Given the description of an element on the screen output the (x, y) to click on. 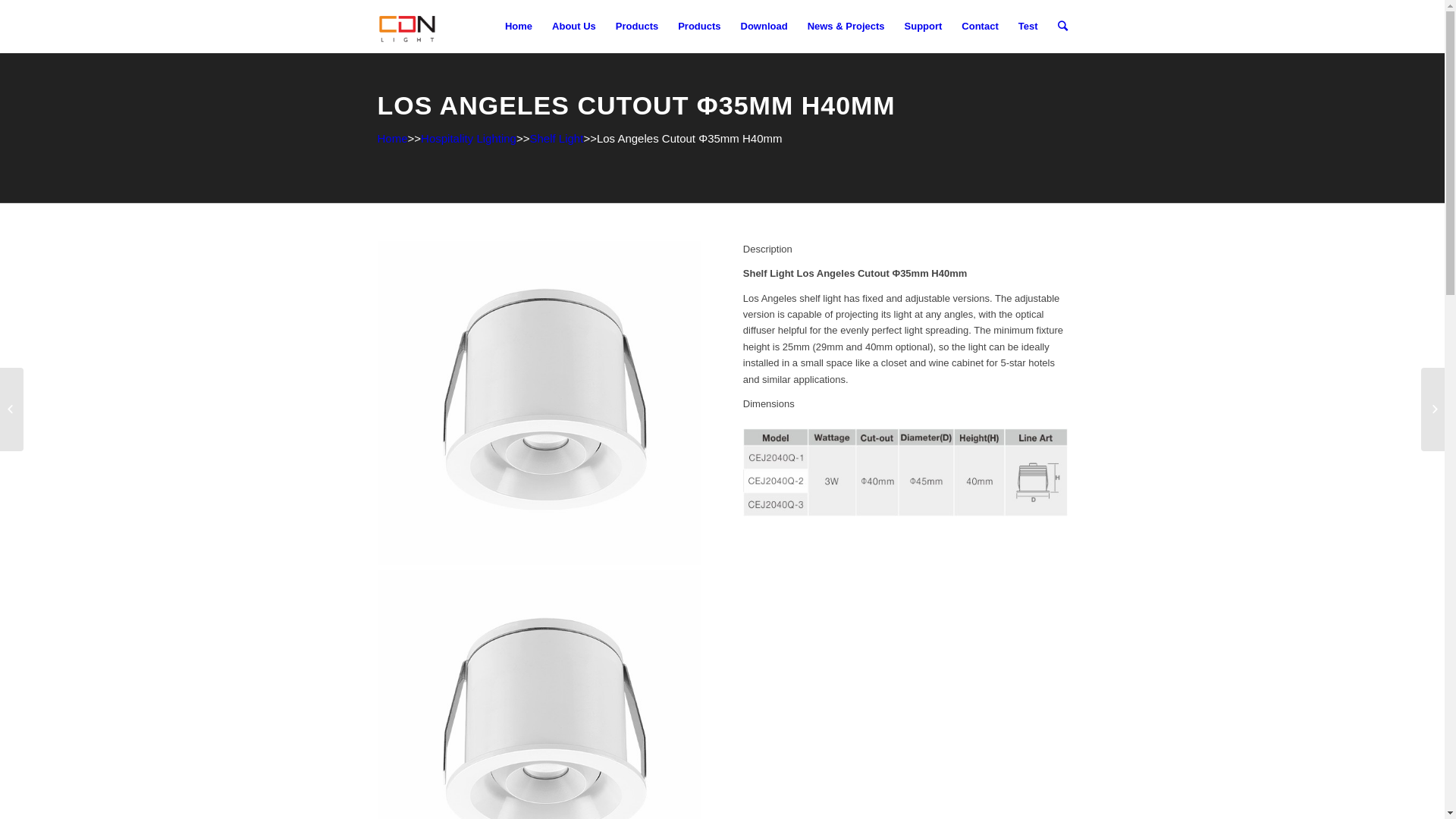
Hospitality Lighting Element type: text (468, 137)
Support Element type: text (923, 26)
Home Element type: text (392, 137)
shelf light-CEJ2040Q-1 Element type: hover (539, 403)
Contact Element type: text (979, 26)
Download Element type: text (764, 26)
Products Element type: text (636, 26)
About Us Element type: text (573, 26)
Shelf Light Element type: text (556, 137)
Home Element type: text (518, 26)
Test Element type: text (1028, 26)
Products Element type: text (699, 26)
News & Projects Element type: text (845, 26)
